Given the description of an element on the screen output the (x, y) to click on. 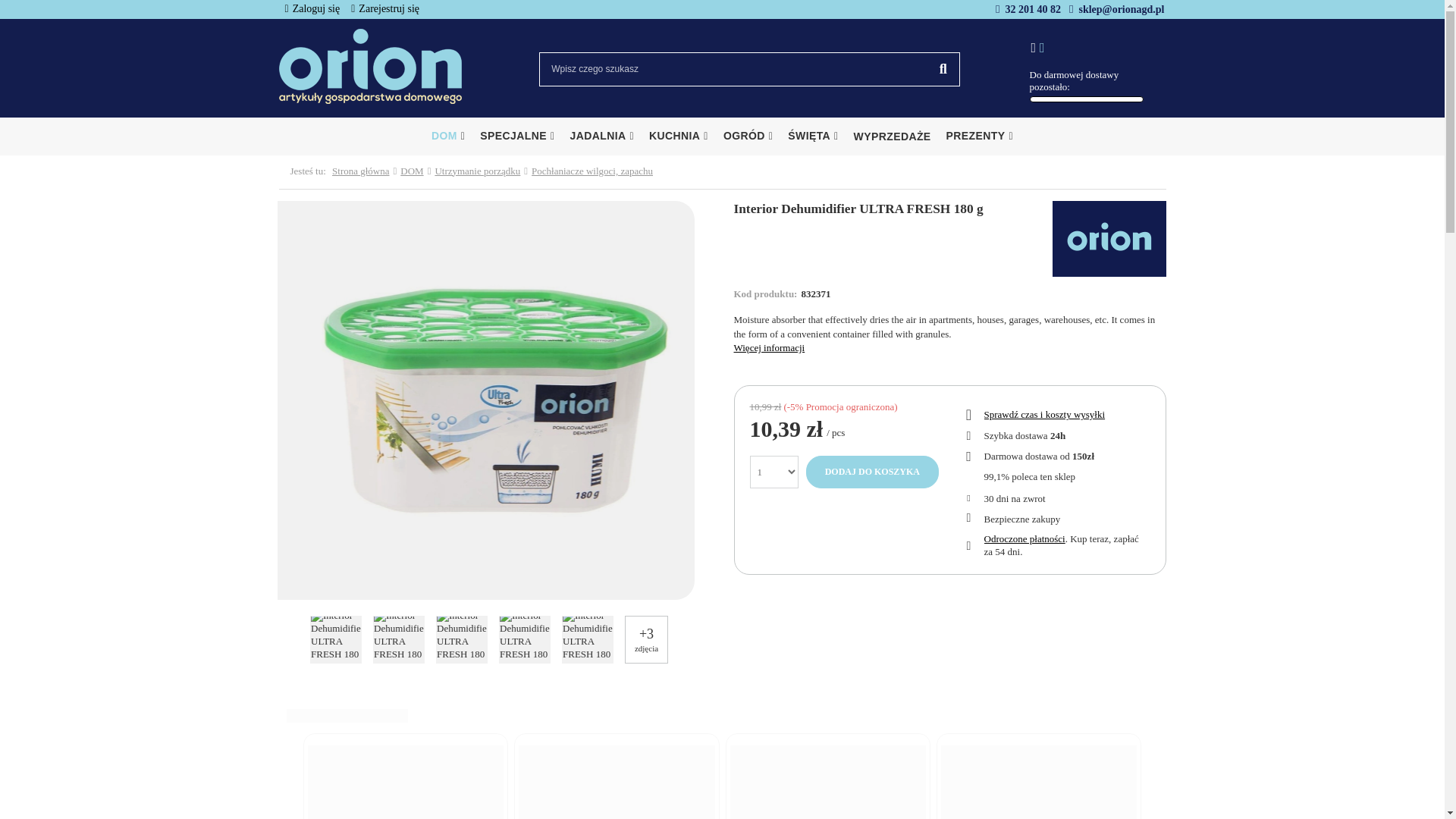
PREZENTY (979, 136)
KUCHNIA (679, 136)
DOM (447, 136)
SPECJALNE (516, 136)
DOM (447, 136)
JADALNIA (602, 136)
Orion (1109, 238)
32 201 40 82 (1033, 9)
